Given the description of an element on the screen output the (x, y) to click on. 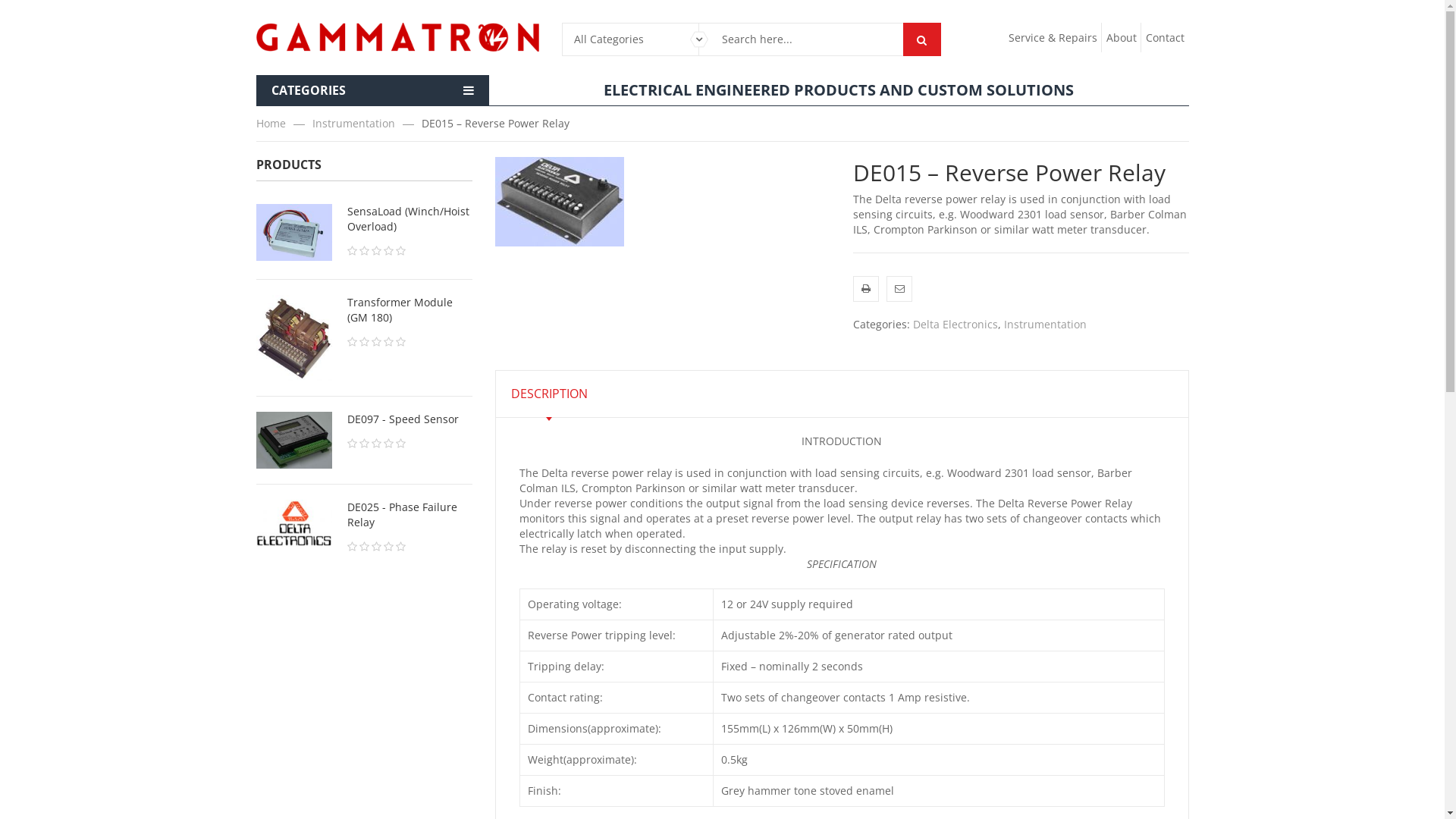
Service & Repairs Element type: text (1052, 37)
DE015 Element type: hover (558, 201)
Rated 0 out of 5 Element type: hover (409, 341)
SensaLoad (Winch/Hoist Overload) Element type: text (364, 218)
Instrumentation Element type: text (1045, 323)
Rated 0 out of 5 Element type: hover (409, 443)
Delta Electronics Element type: text (955, 323)
All Categories Element type: text (630, 39)
Send to a friend Element type: text (899, 288)
Rated 0 out of 5 Element type: hover (409, 250)
Print Element type: text (865, 288)
Instrumentation Element type: text (366, 123)
Rated 0 out of 5 Element type: hover (409, 546)
Transformer Module (GM 180) Element type: text (364, 309)
Home Element type: text (284, 123)
Contact Element type: text (1165, 37)
About Element type: text (1121, 37)
DESCRIPTION Element type: text (549, 393)
DE025 - Phase Failure Relay Element type: text (364, 514)
DE097 - Speed Sensor Element type: text (364, 418)
